Given the description of an element on the screen output the (x, y) to click on. 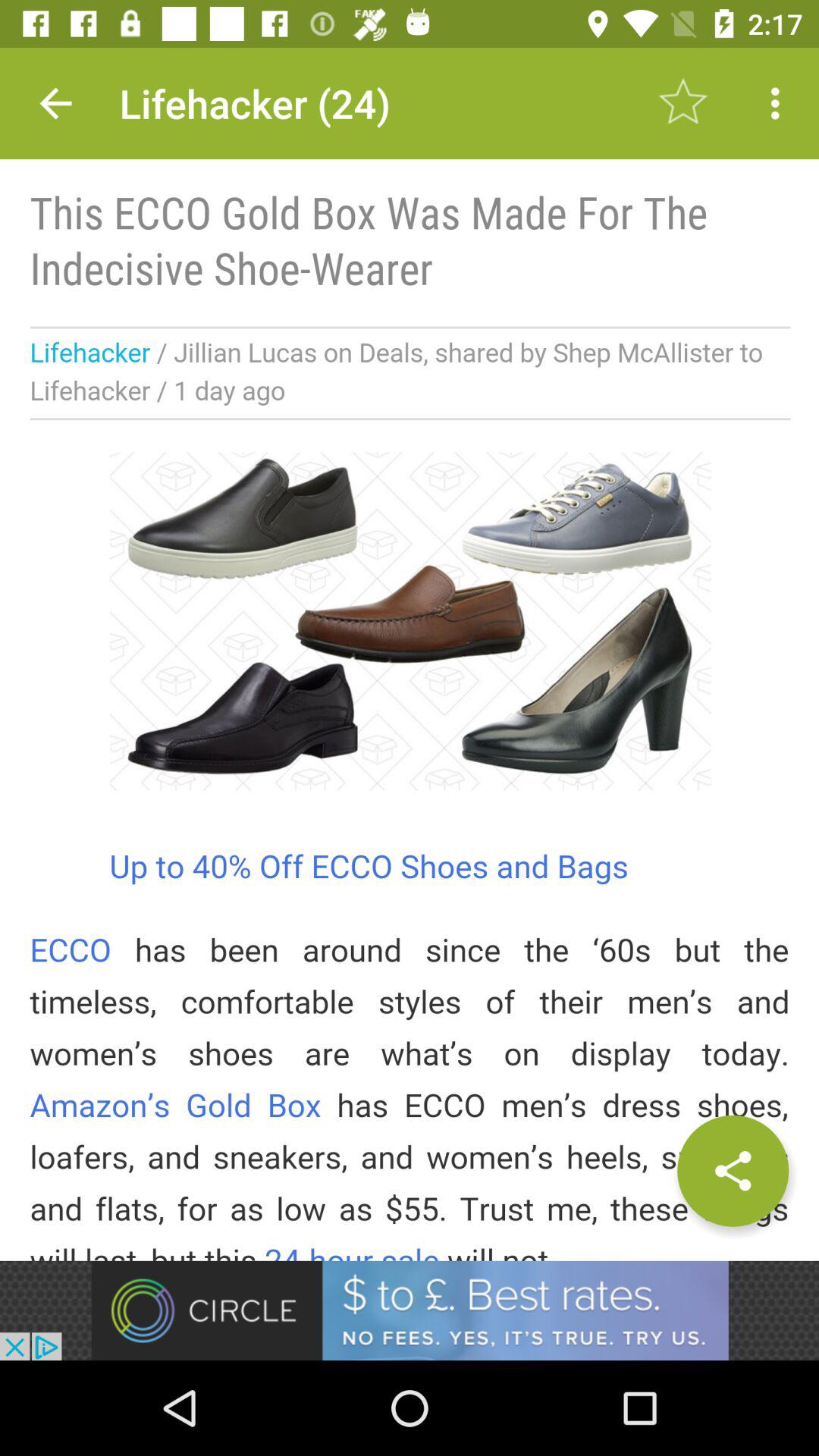
go to advertisement (409, 1310)
